Given the description of an element on the screen output the (x, y) to click on. 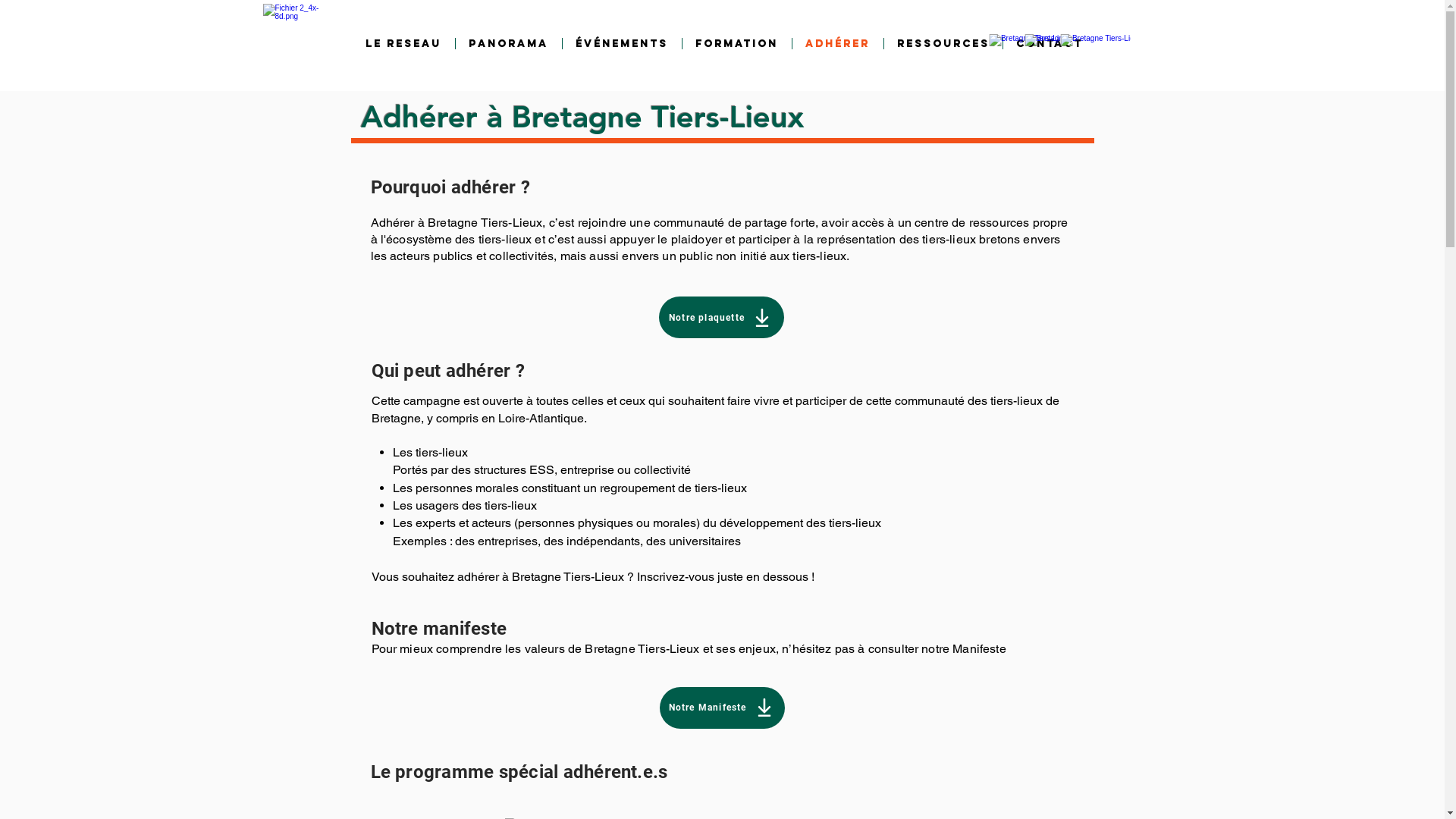
Notre Manifeste Element type: text (721, 707)
Notre plaquette Element type: text (720, 317)
Panorama Element type: text (508, 43)
LE RESEAU Element type: text (402, 43)
Contact Element type: text (1048, 43)
Ressources Element type: text (943, 43)
Formation Element type: text (736, 43)
